Given the description of an element on the screen output the (x, y) to click on. 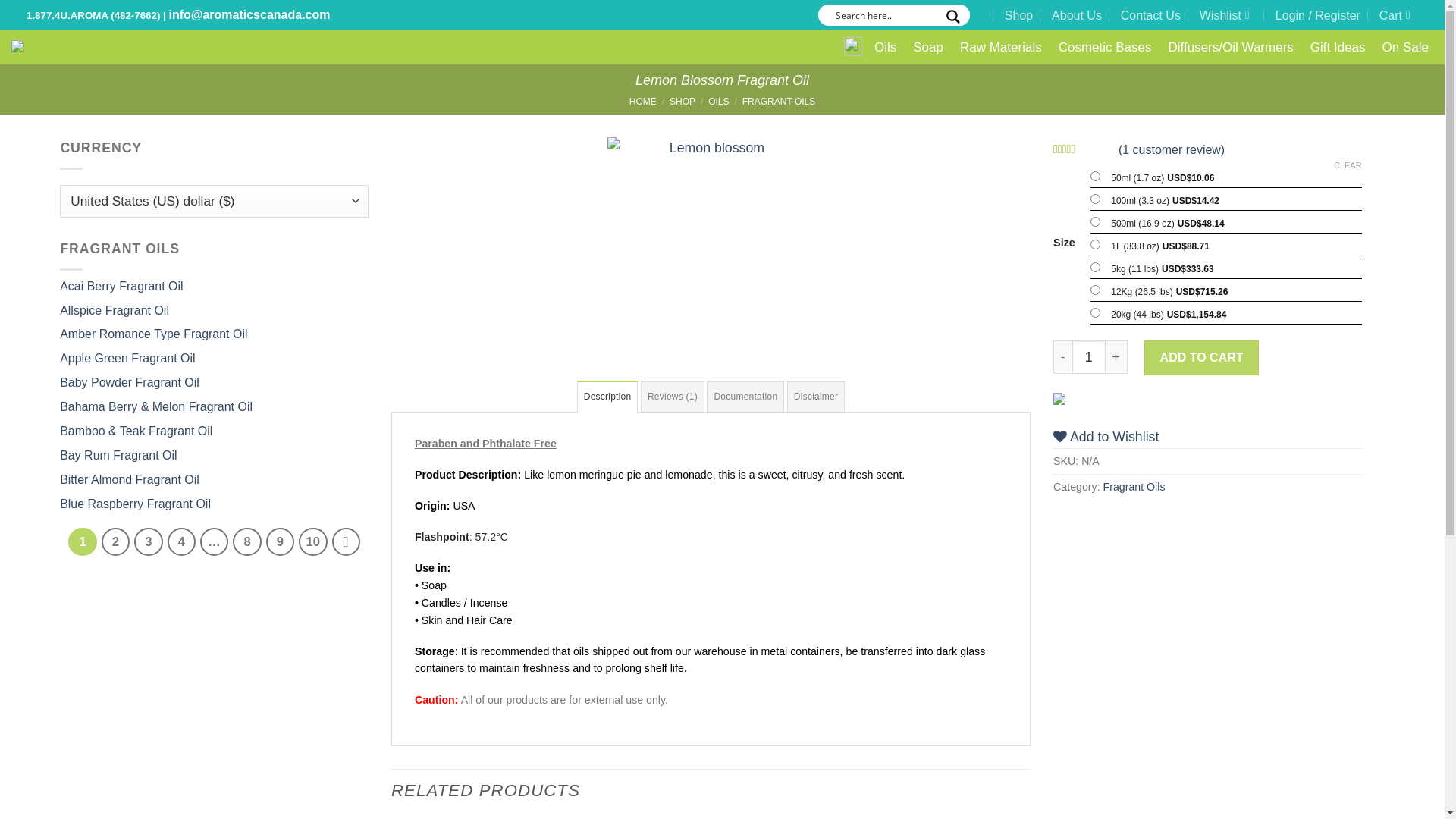
Documentation Element type: text (745, 395)
Blue Raspberry Fragrant Oil Element type: text (134, 504)
Diffusers/Oil Warmers Element type: text (1230, 46)
Gift Ideas Element type: text (1337, 46)
Bahama Berry & Melon Fragrant Oil Element type: text (155, 407)
FRAGRANT OILS Element type: text (778, 101)
About Us Element type: text (1076, 15)
8 Element type: text (246, 541)
(1 customer review) Element type: text (1171, 148)
Contact Us Element type: text (1150, 15)
Wishlist Element type: text (1224, 15)
Cosmetic Bases Element type: text (1105, 46)
OILS Element type: text (718, 101)
Baby Powder Fragrant Oil Element type: text (129, 383)
10 Element type: text (312, 541)
On Sale Element type: text (1405, 46)
Fragrant Oils Element type: text (1134, 486)
3 Element type: text (148, 541)
Amber Romance Type Fragrant Oil Element type: text (153, 334)
Oils Element type: text (884, 46)
9 Element type: text (280, 541)
Bamboo & Teak Fragrant Oil Element type: text (135, 431)
4 Element type: text (181, 541)
Raw Materials Element type: text (1000, 46)
2 Element type: text (115, 541)
info@aromaticscanada.com Element type: text (248, 14)
CLEAR Element type: text (1347, 165)
Disclaimer Element type: text (815, 395)
ADD TO CART Element type: text (1201, 357)
Acai Berry Fragrant Oil Element type: text (120, 286)
Apple Green Fragrant Oil Element type: text (126, 359)
Login / Register Element type: text (1317, 15)
Bay Rum Fragrant Oil Element type: text (117, 456)
Shop Element type: text (1018, 15)
Reviews (1) Element type: text (672, 395)
Add to Wishlist Element type: text (1105, 436)
Bitter Almond Fragrant Oil Element type: text (129, 480)
Cart Element type: text (1398, 15)
Soap Element type: text (927, 46)
SHOP Element type: text (682, 101)
Allspice Fragrant Oil Element type: text (114, 311)
Description Element type: text (607, 395)
HOME Element type: text (642, 101)
